Given the description of an element on the screen output the (x, y) to click on. 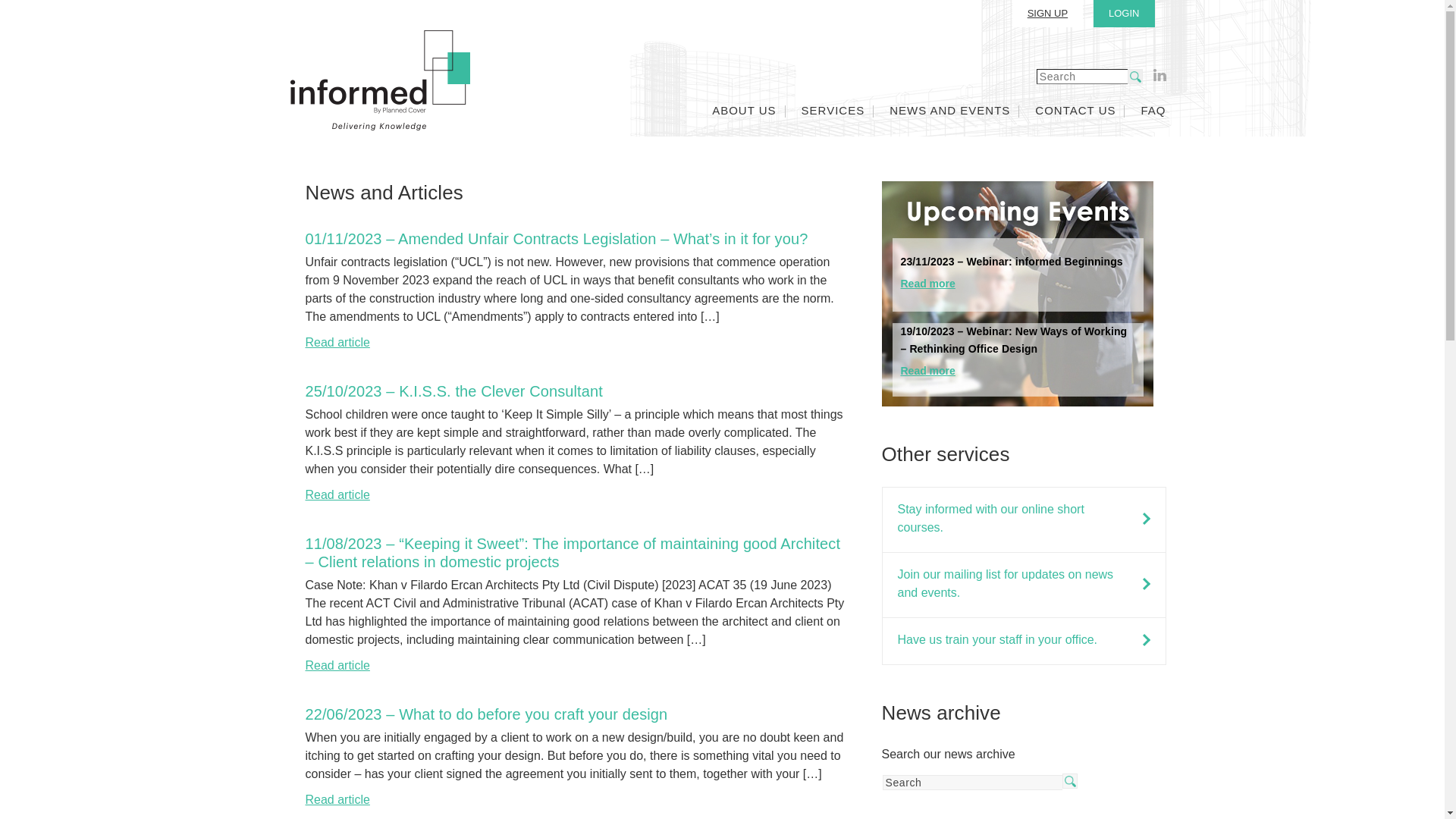
NEWS AND EVENTS Element type: text (949, 109)
LOGIN Element type: text (1123, 13)
Read more Element type: text (927, 283)
SIGN UP Element type: text (1047, 13)
Join our mailing list for updates on news and events. Element type: text (1014, 584)
Read article Element type: text (336, 799)
SERVICES Element type: text (833, 109)
ABOUT US Element type: text (743, 109)
CONTACT US Element type: text (1075, 109)
Read article Element type: text (336, 494)
Read more Element type: text (927, 370)
search Element type: text (1069, 780)
FAQ Element type: text (1152, 109)
Stay informed with our online short courses. Element type: text (1014, 519)
Read article Element type: text (336, 341)
search Element type: text (1134, 76)
Have us train your staff in your office. Element type: text (1014, 641)
Read article Element type: text (336, 664)
